Given the description of an element on the screen output the (x, y) to click on. 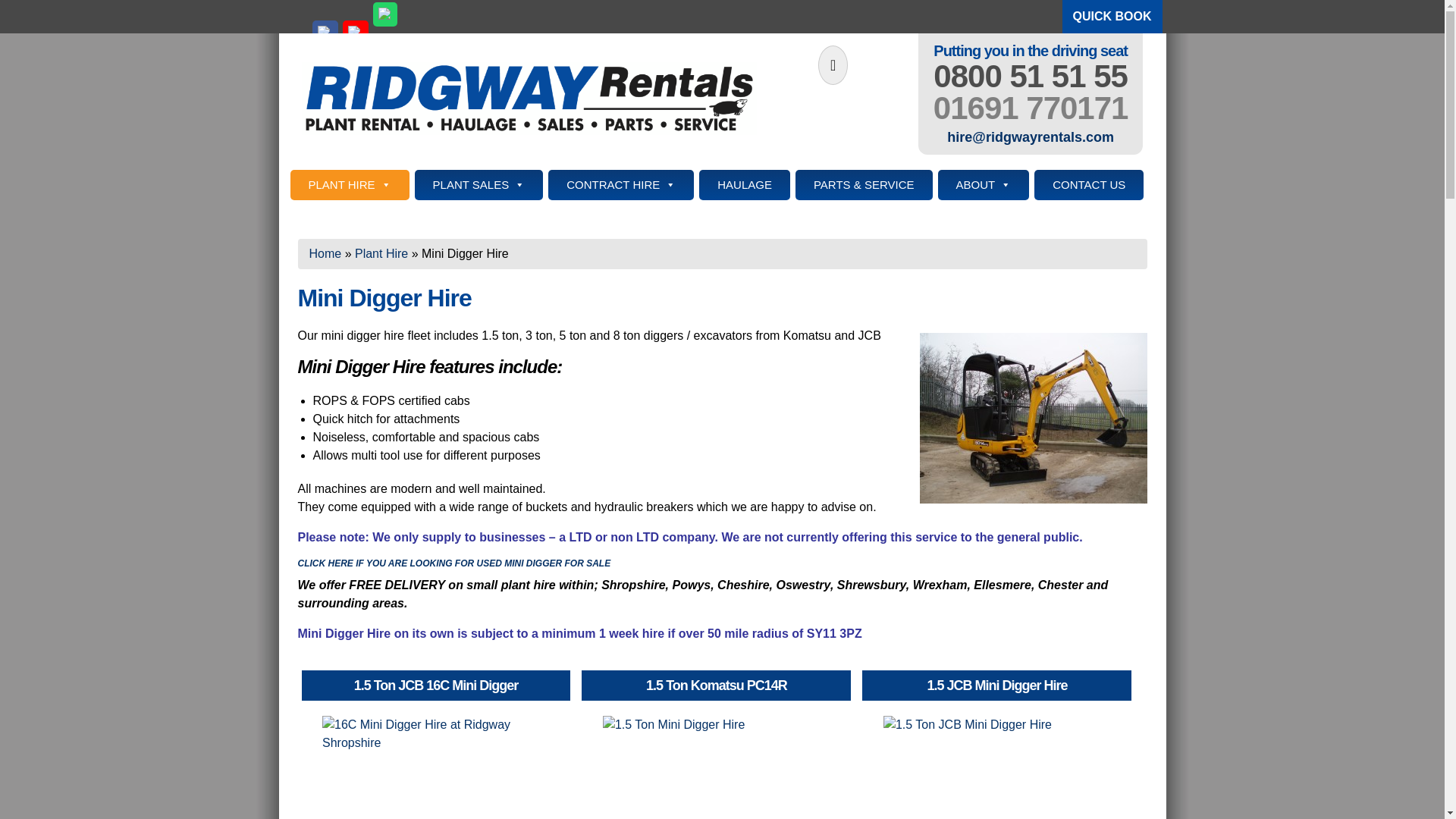
YouTube (355, 32)
Facebook (325, 32)
Twitter (294, 128)
QUICK BOOK (1111, 16)
Mini Digger Hire (1032, 417)
Ridgway Rentals (529, 98)
WhatsApp (384, 14)
